Given the description of an element on the screen output the (x, y) to click on. 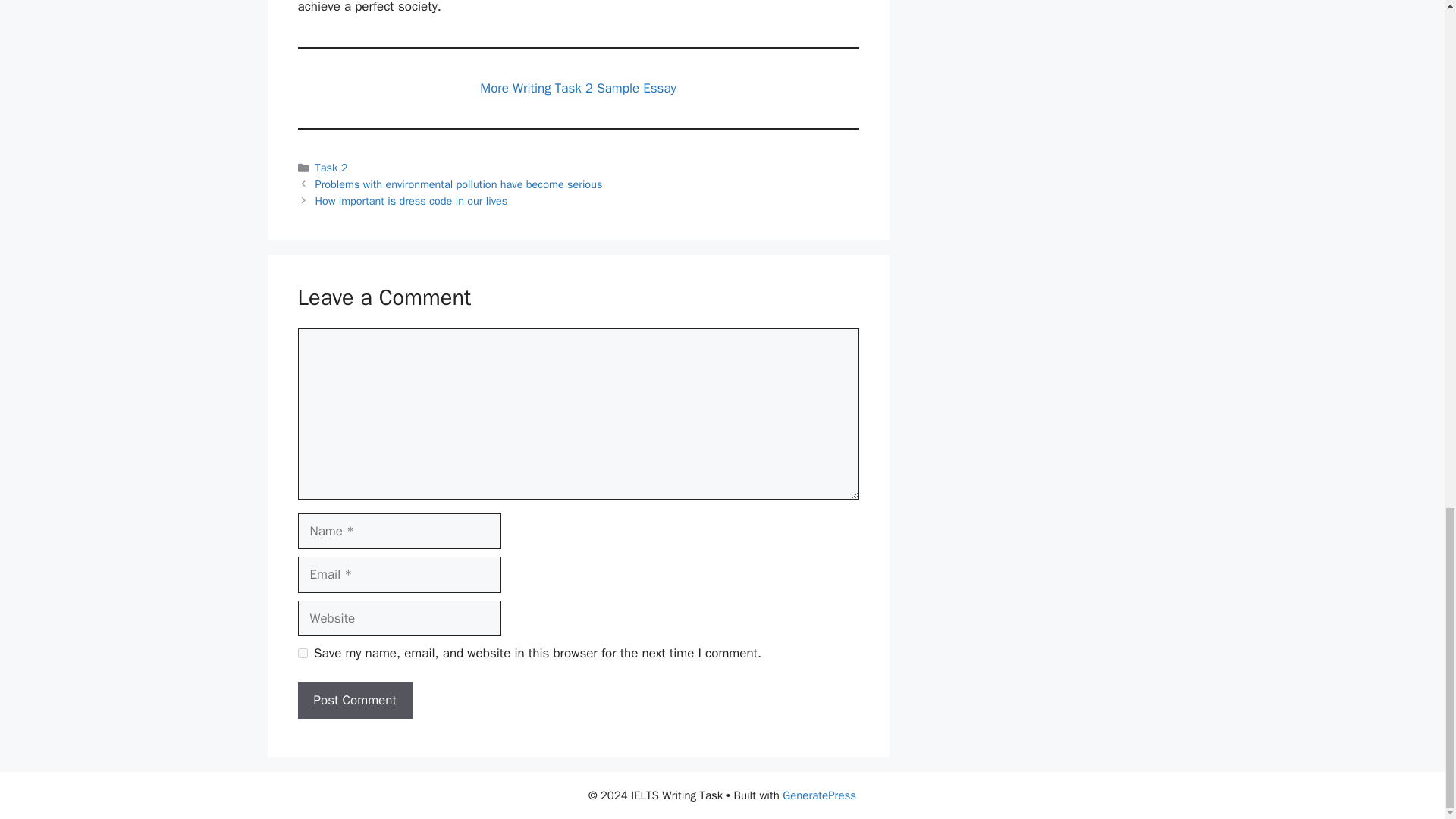
Post Comment (354, 700)
Task 2 (331, 167)
GeneratePress (819, 795)
Post Comment (354, 700)
How important is dress code in our lives (411, 201)
yes (302, 653)
More Writing Task 2 Sample Essay (577, 88)
Problems with environmental pollution have become serious (458, 183)
